Given the description of an element on the screen output the (x, y) to click on. 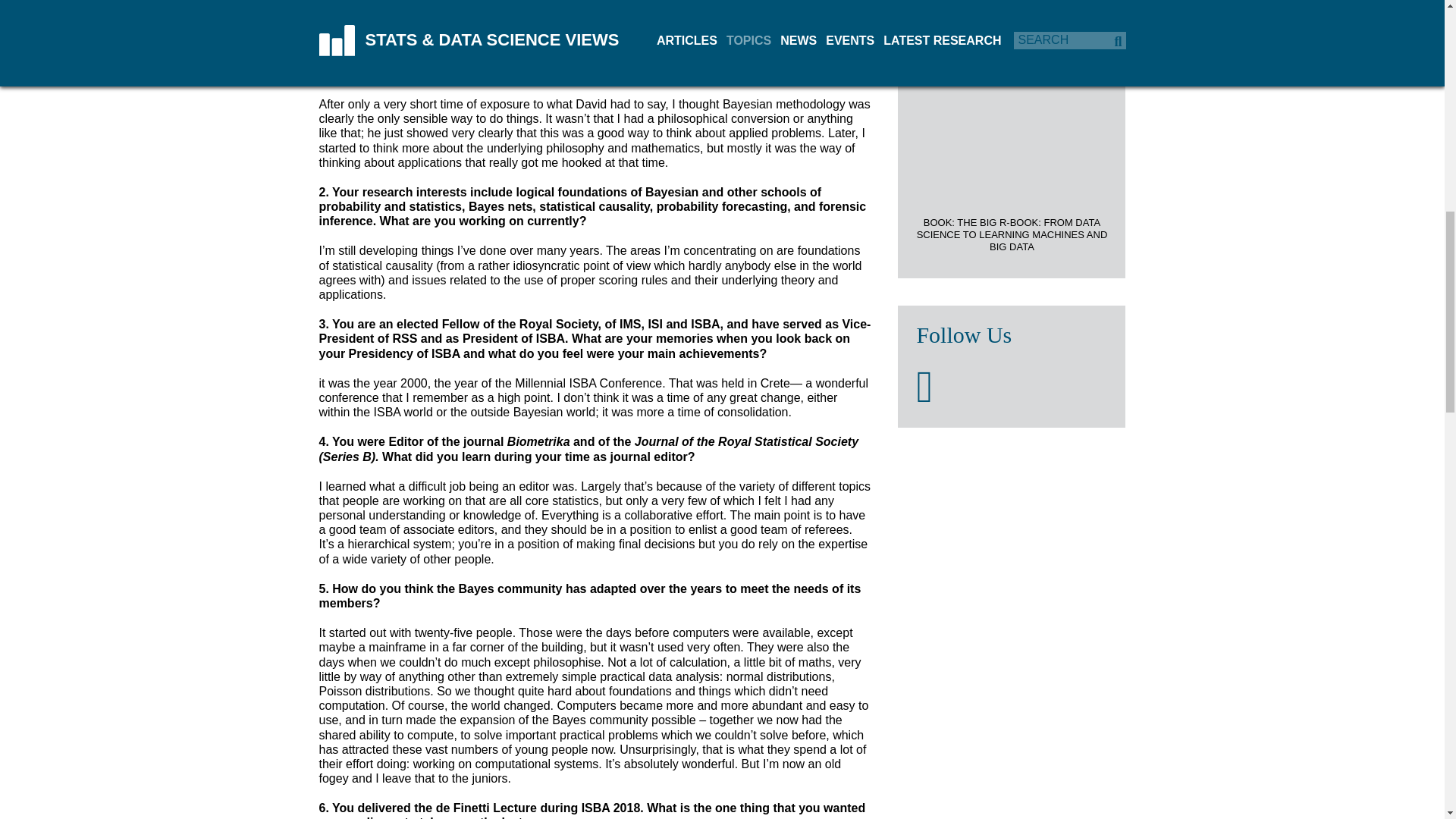
JOURNAL: QUALITY AND RELIABILITY ENGINEERING INTERNATIONAL (1010, 5)
Twitter (924, 386)
